Given the description of an element on the screen output the (x, y) to click on. 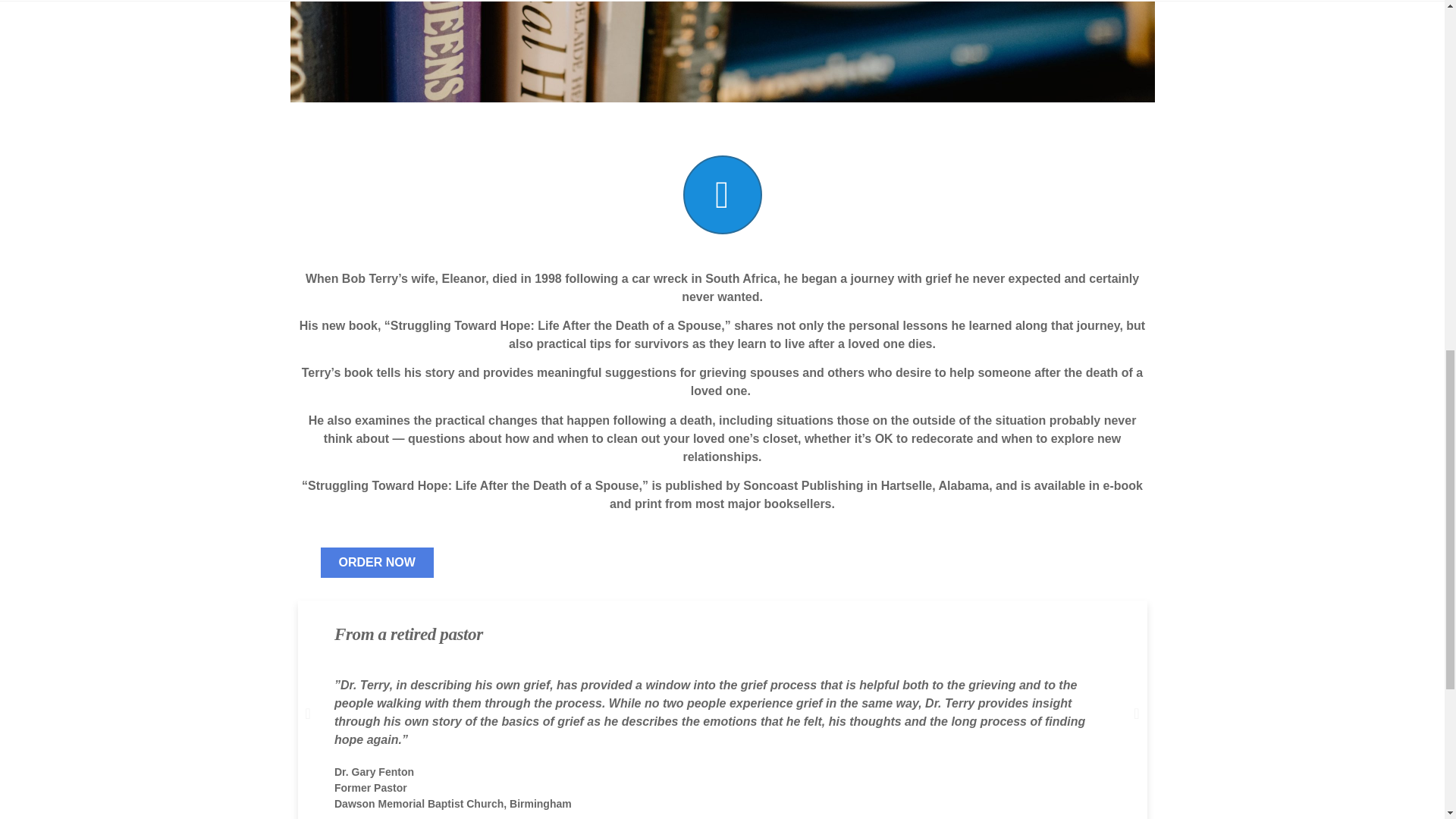
ORDER NOW (376, 562)
